Given the description of an element on the screen output the (x, y) to click on. 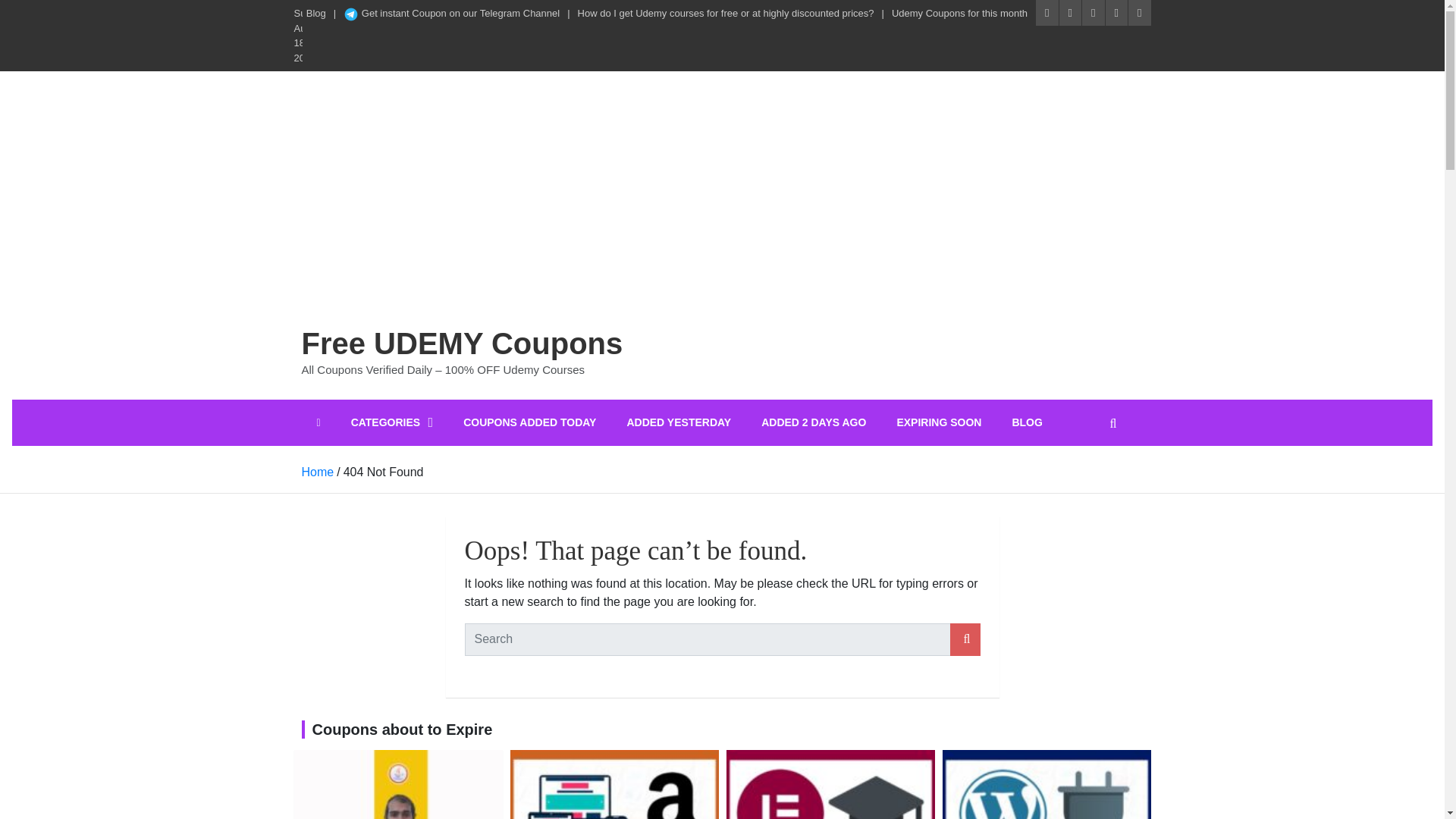
Udemy Coupons for this month (959, 13)
CATEGORIES (392, 421)
Free UDEMY Coupons (462, 343)
Blog (315, 13)
Get instant Coupon on our Telegram Channel (451, 13)
